Given the description of an element on the screen output the (x, y) to click on. 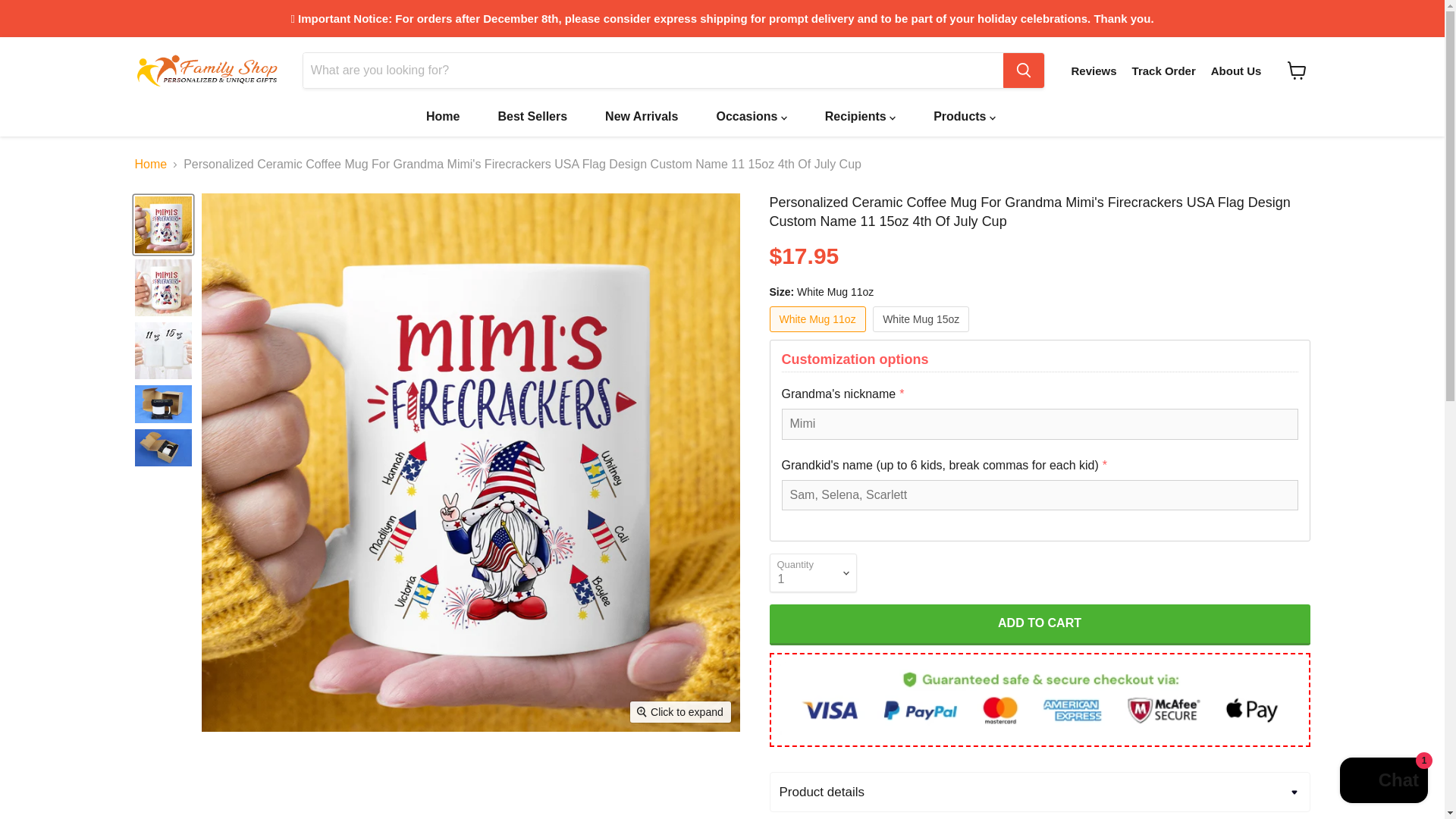
View cart (1296, 70)
Track Order (1163, 70)
Best Sellers (532, 116)
Occasions (750, 116)
Reviews (1093, 70)
Shopify online store chat (1383, 781)
Recipients (860, 116)
About Us (1236, 70)
New Arrivals (641, 116)
Home (442, 116)
